Given the description of an element on the screen output the (x, y) to click on. 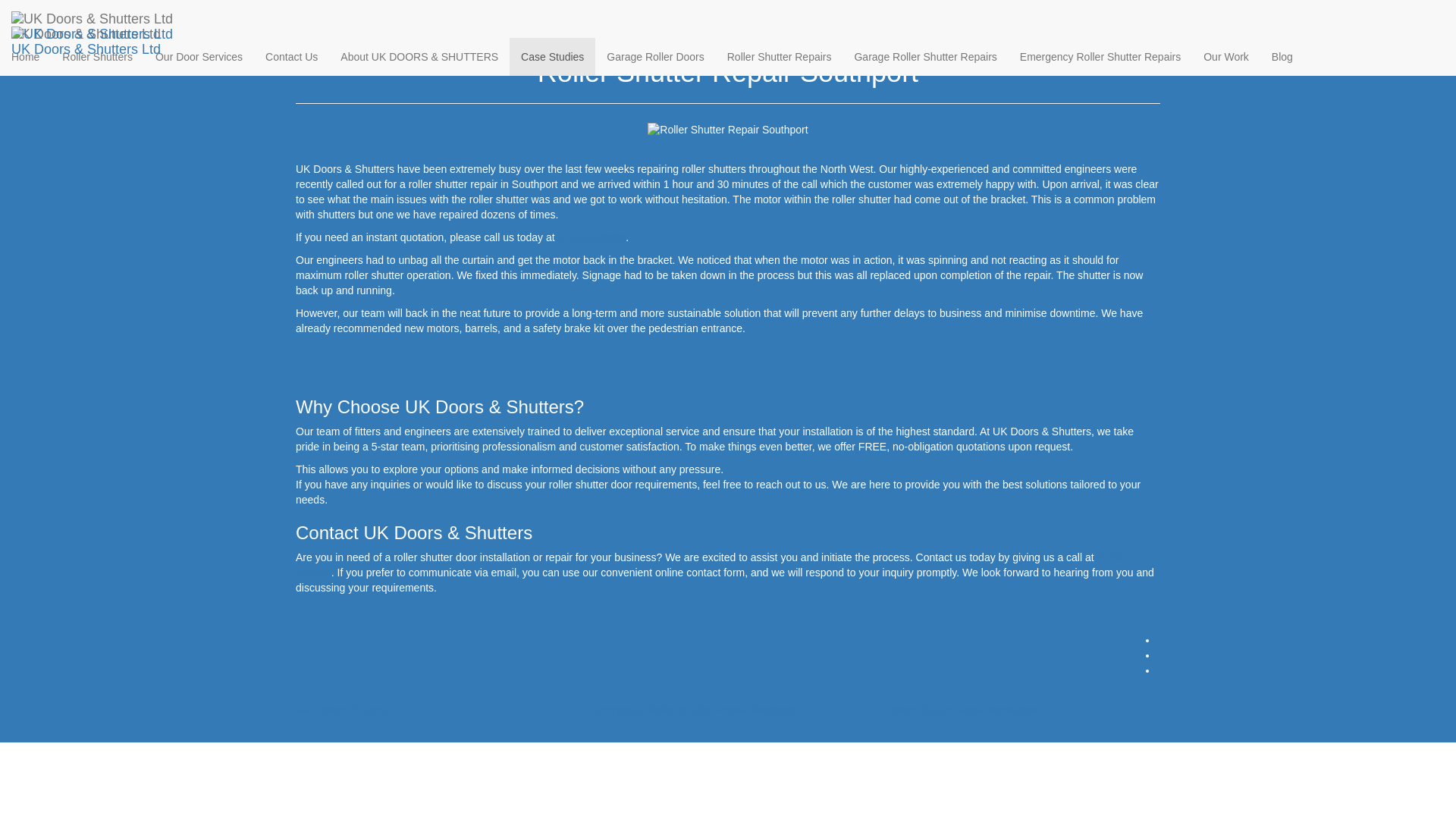
Garage Roller Shutter Repairs (925, 56)
Case Studies (368, 12)
Roller Shutter Repair Accrington (962, 709)
Home (25, 56)
Our Door Services (198, 56)
01204 402585 (710, 564)
Contact Us (291, 56)
Emergency Roller Shutter Repair Blackpool (693, 709)
Garage Roller Doors (654, 56)
Blog (1282, 56)
Roller Shutters (97, 56)
Case Studies (552, 56)
Van Roller Shutters (341, 709)
Home (309, 12)
01204 402585 (591, 236)
